Given the description of an element on the screen output the (x, y) to click on. 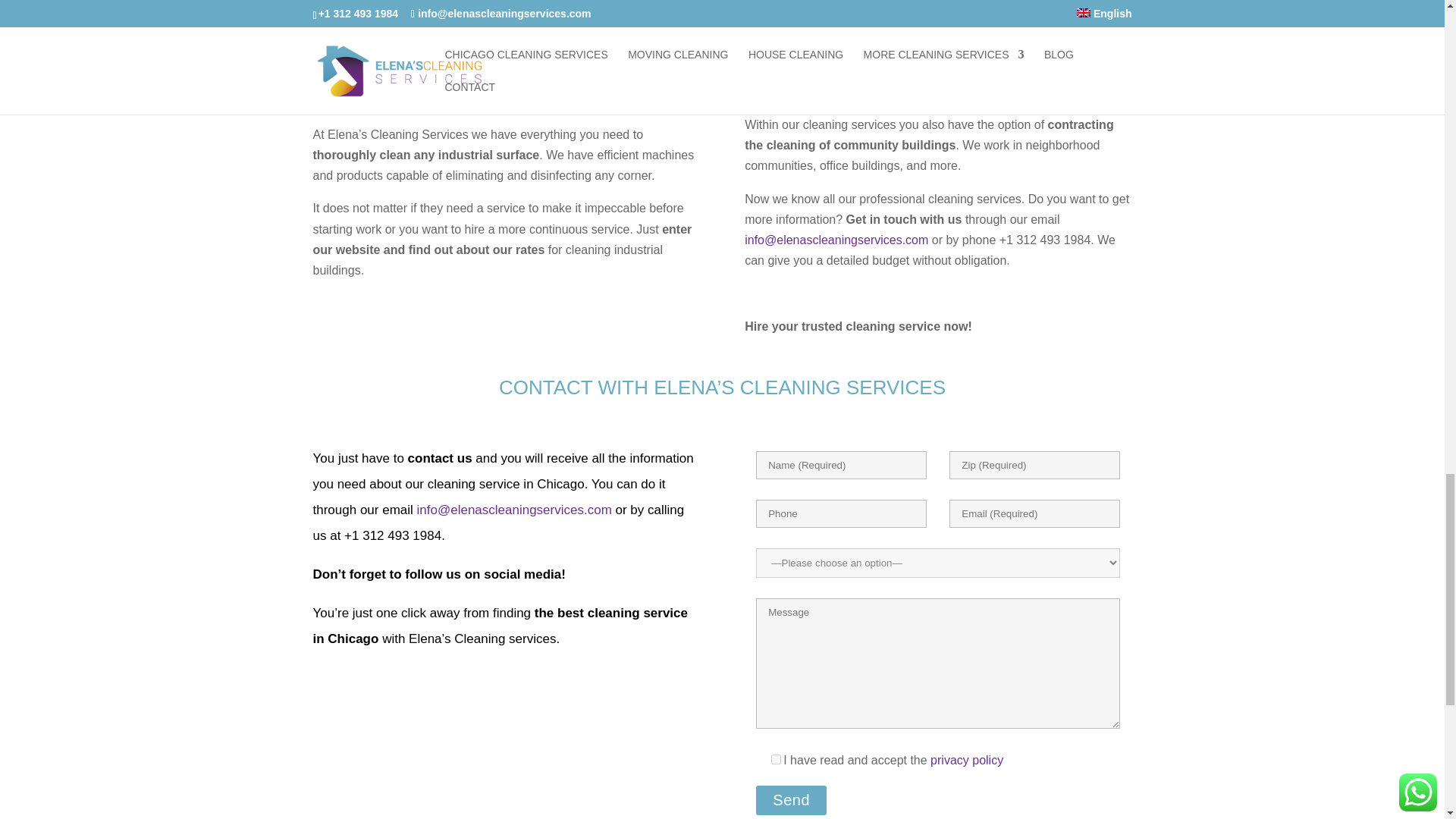
1 (775, 759)
Chicago Cleaning Building (937, 21)
Send (791, 799)
privacy policy (966, 759)
Send (791, 799)
